Given the description of an element on the screen output the (x, y) to click on. 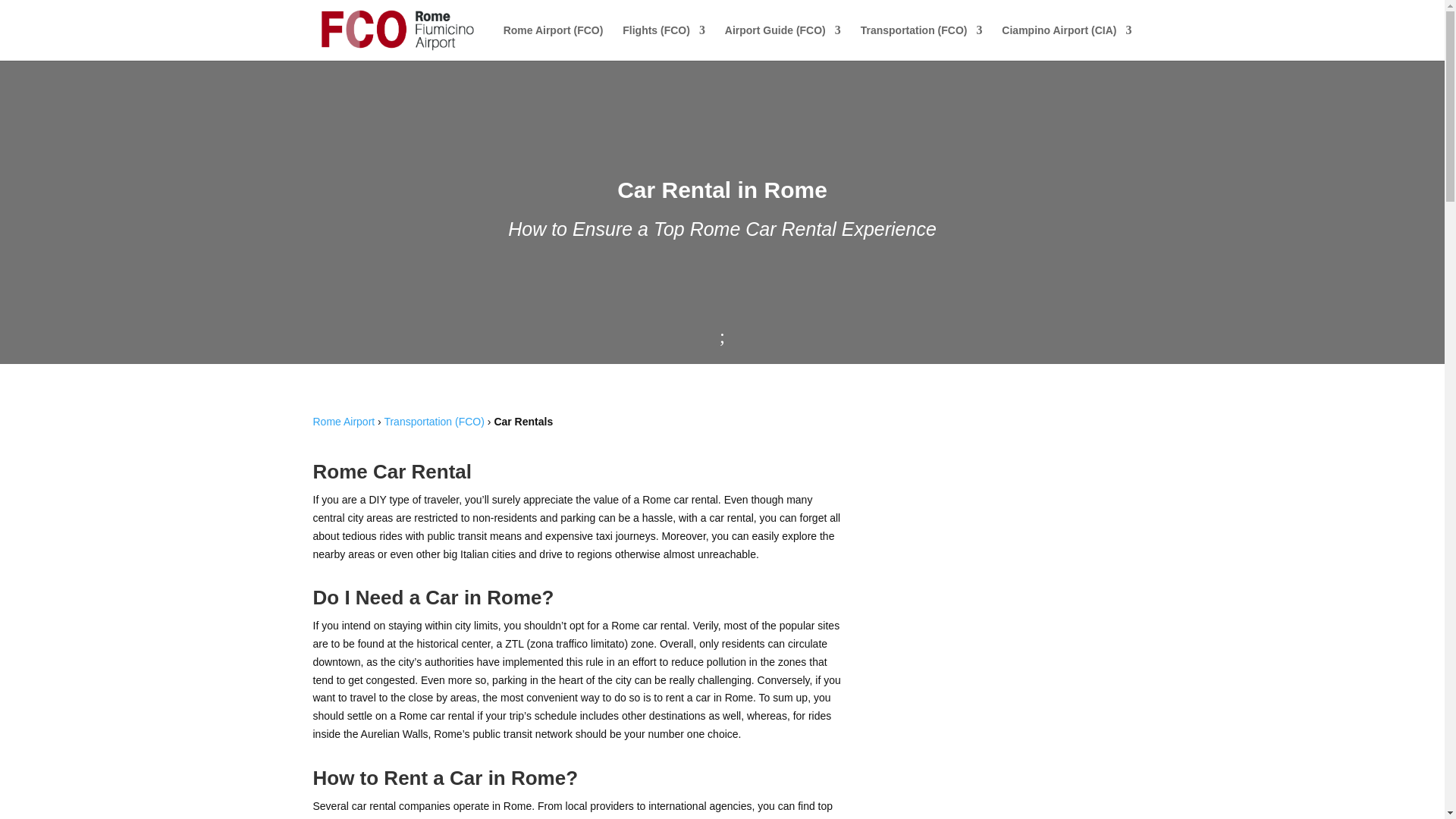
Cheap Flights from and to Rome Airport (663, 42)
; (722, 337)
; (722, 337)
; (722, 335)
Rome Airport (343, 421)
